Given the description of an element on the screen output the (x, y) to click on. 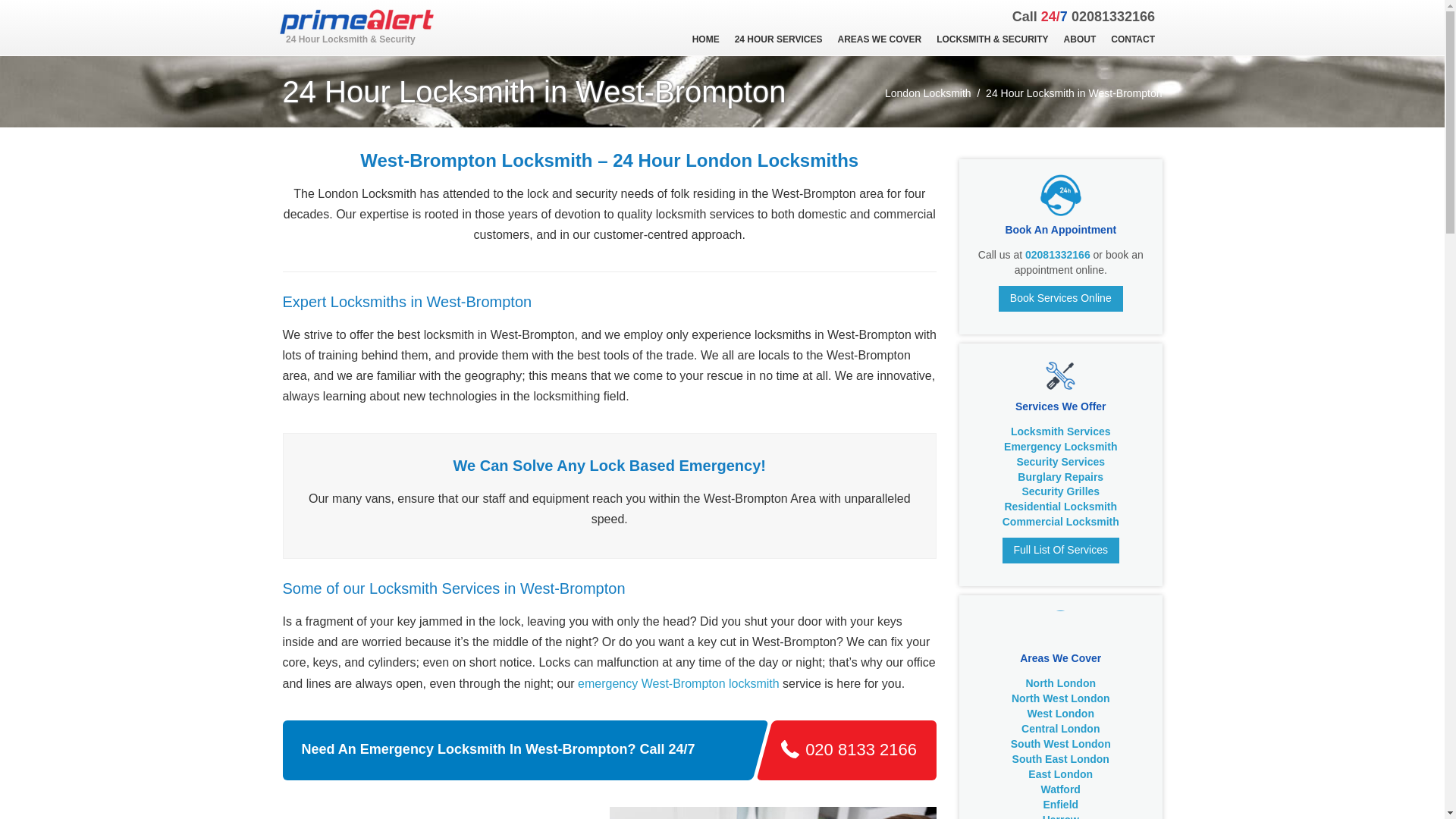
London Locksmith (928, 92)
AREAS WE COVER (879, 39)
HOME (705, 39)
24 HOUR SERVICES (777, 39)
02081332166 (1112, 16)
